Given the description of an element on the screen output the (x, y) to click on. 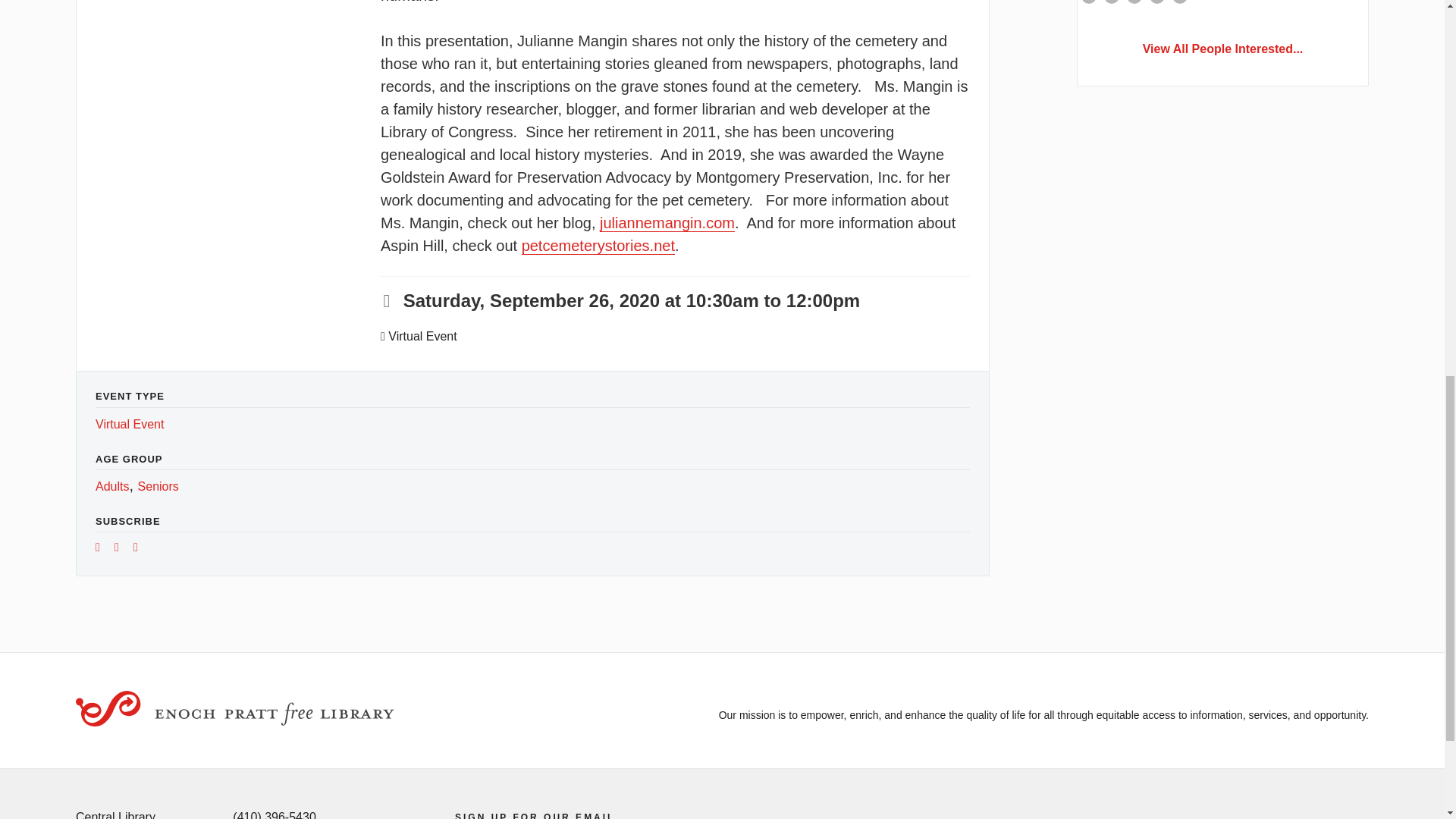
2020-09-26T12:00:00-04:00 (823, 300)
Save to Outlook (140, 548)
Save to Google Calendar (103, 548)
2020-09-26T10:30:00-04:00 (571, 300)
Save to iCal (122, 548)
